Given the description of an element on the screen output the (x, y) to click on. 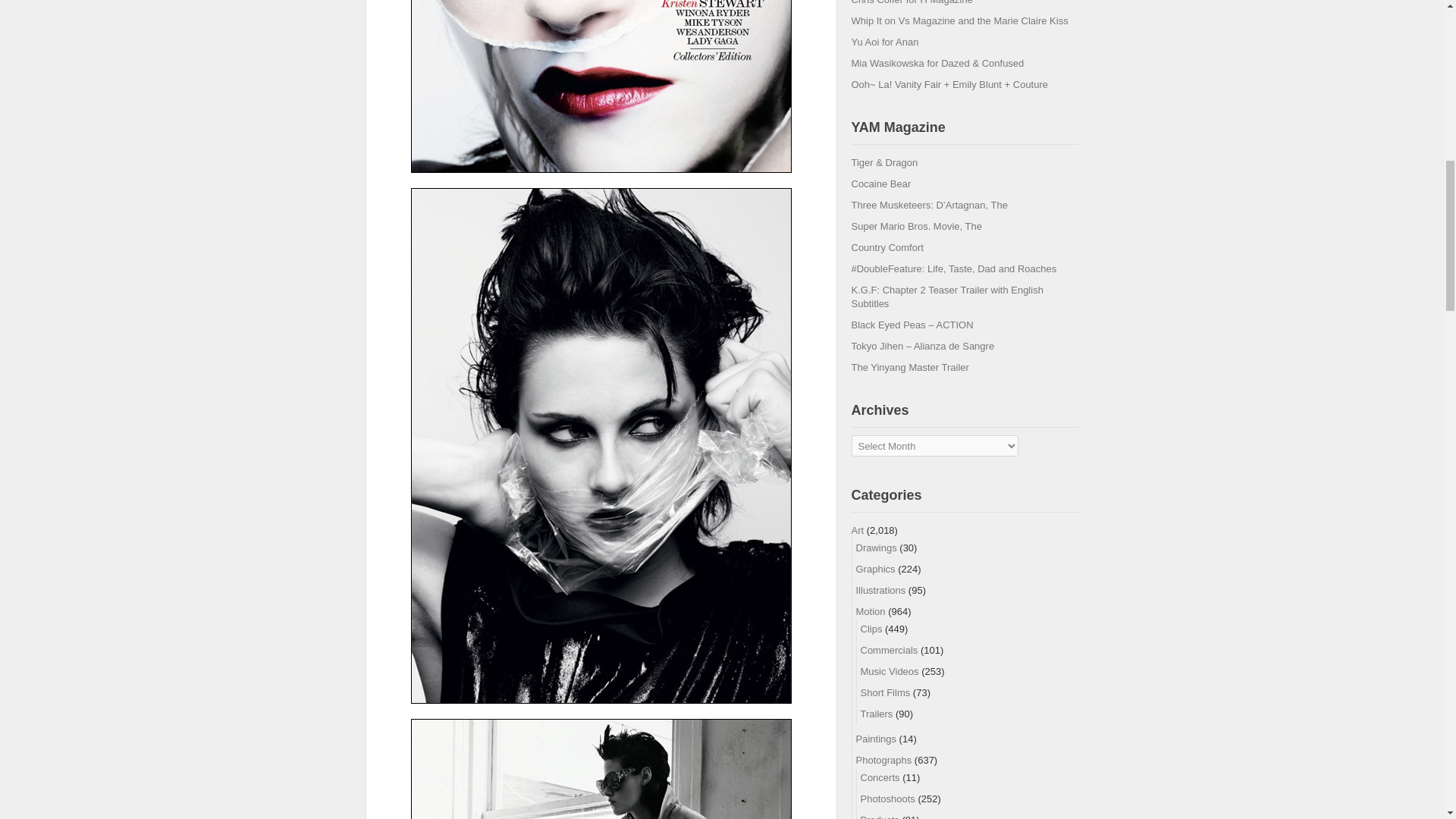
Whip It on Vs Magazine and the Marie Claire Kiss (958, 20)
January 12, 2010 (911, 2)
Yu Aoi for Anan (884, 41)
Chris Colfer for H Magazine (911, 2)
